Given the description of an element on the screen output the (x, y) to click on. 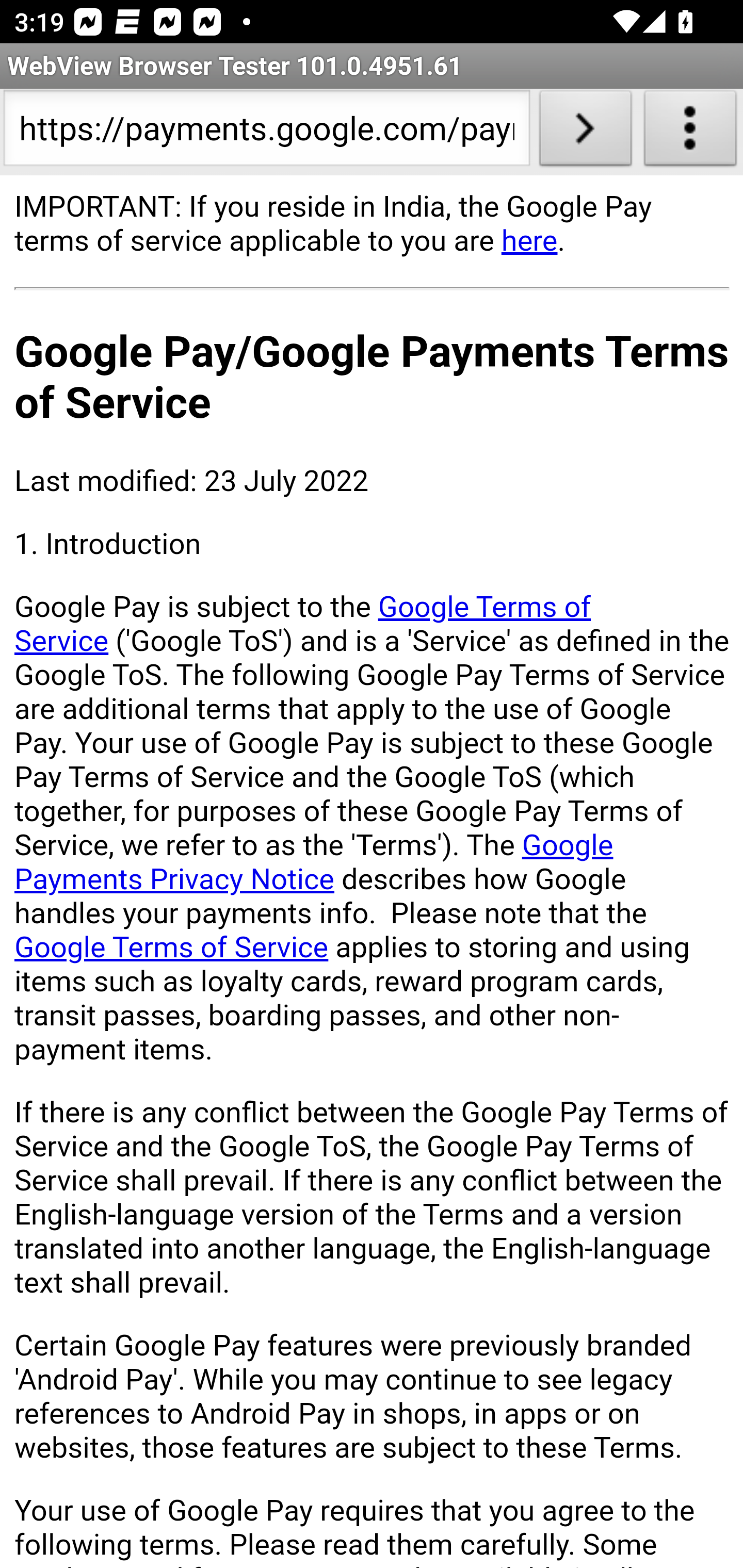
Load URL (585, 132)
About WebView (690, 132)
here (528, 240)
Google Terms of Service (303, 623)
Google Payments Privacy Notice (313, 861)
Google Terms of Service (171, 947)
